Given the description of an element on the screen output the (x, y) to click on. 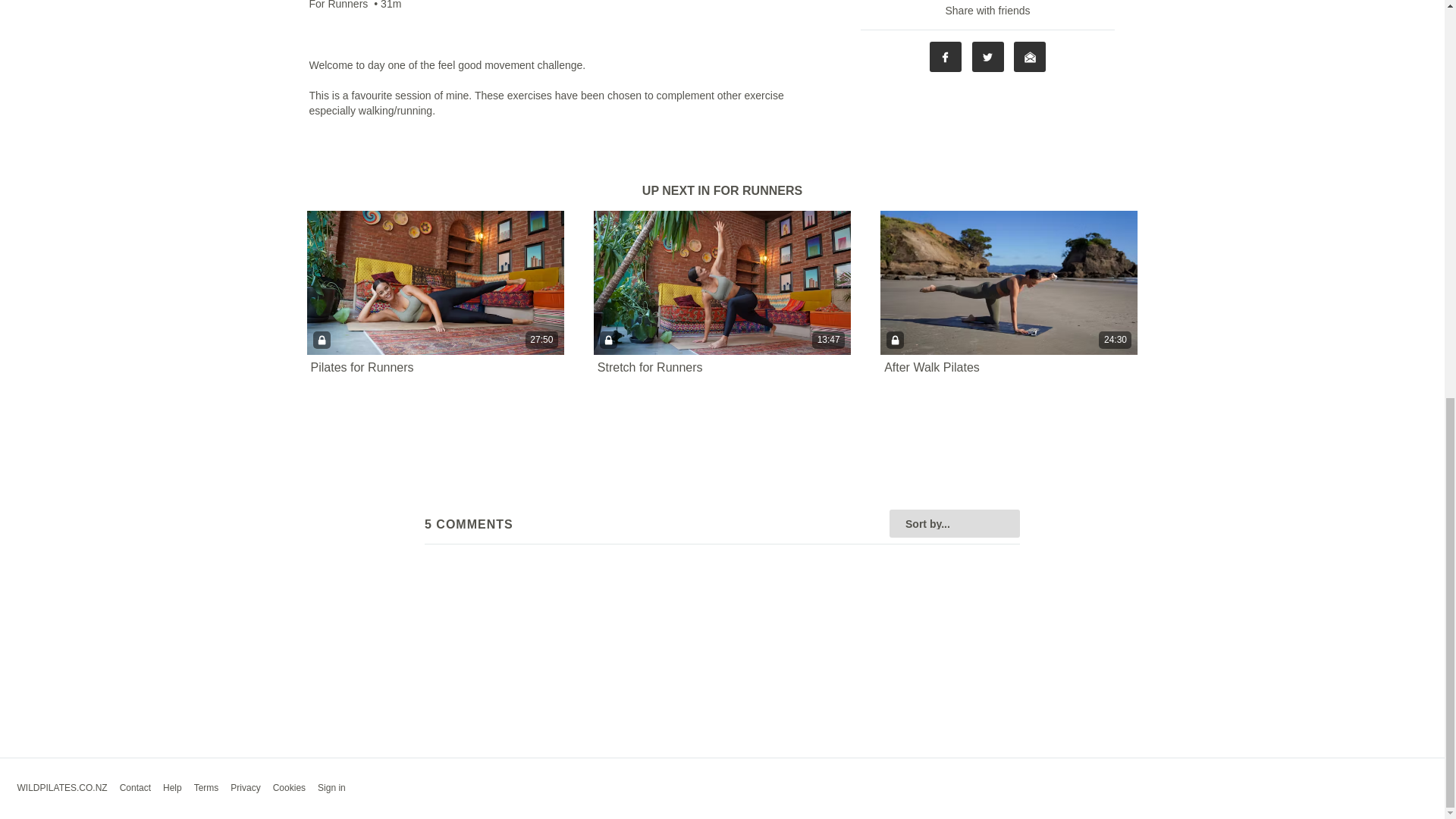
Pilates for Runners (362, 367)
27:50 (434, 282)
5 comments (344, 22)
Facebook (945, 56)
Twitter (988, 56)
Stretch for Runners (649, 367)
After Walk Pilates  (931, 367)
Contact (135, 788)
Sign in (331, 788)
For Runners (338, 5)
Stretch for Runners (649, 367)
WILDPILATES.CO.NZ (61, 788)
After Walk Pilates (931, 367)
Terms (206, 788)
Help (172, 788)
